Given the description of an element on the screen output the (x, y) to click on. 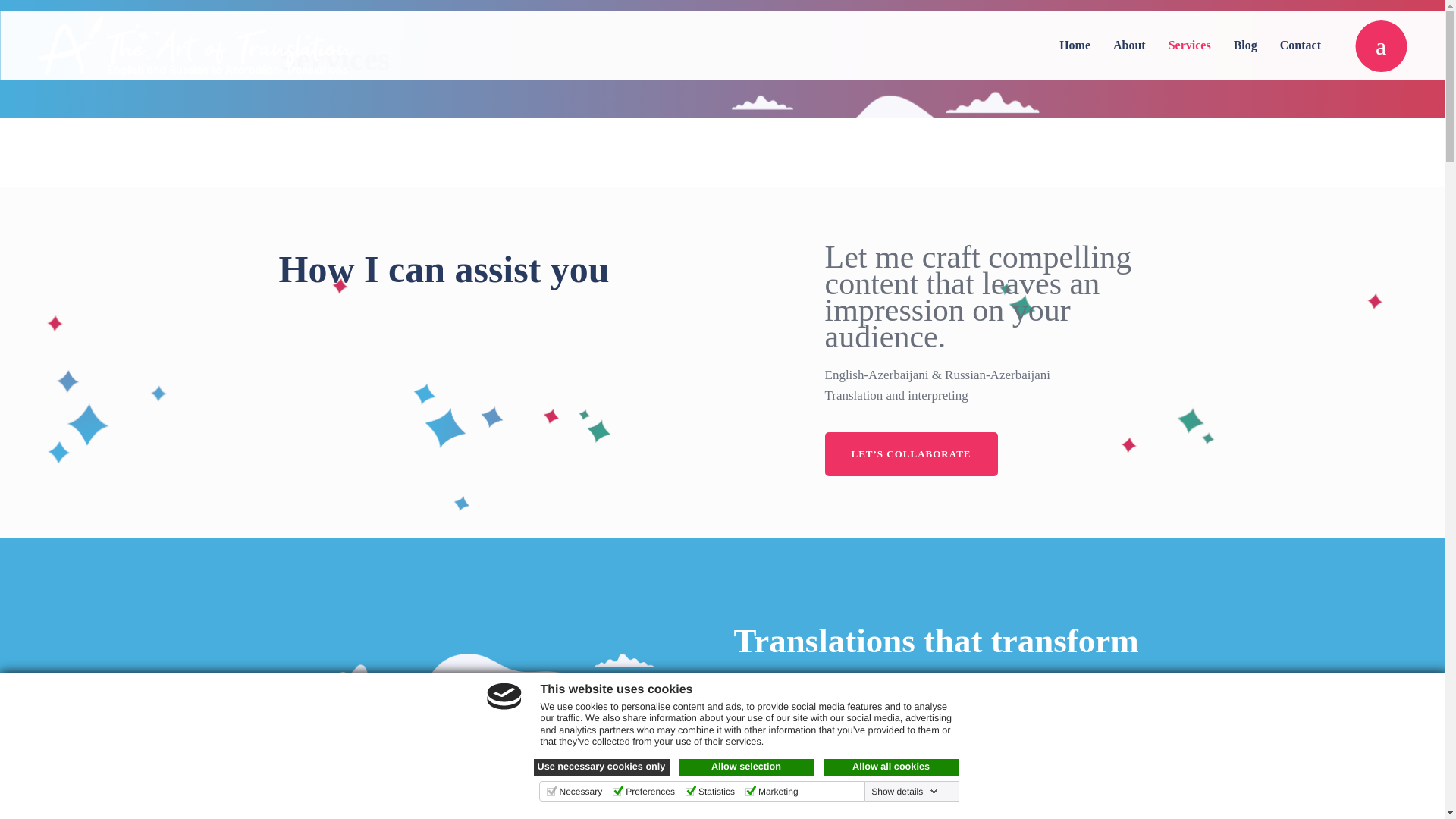
About (1129, 45)
Services (1190, 45)
Allow selection (745, 767)
Show details (903, 791)
Blog (1245, 45)
Use necessary cookies only (601, 767)
Allow all cookies (891, 767)
Home (1074, 45)
Contact (1299, 45)
